Given the description of an element on the screen output the (x, y) to click on. 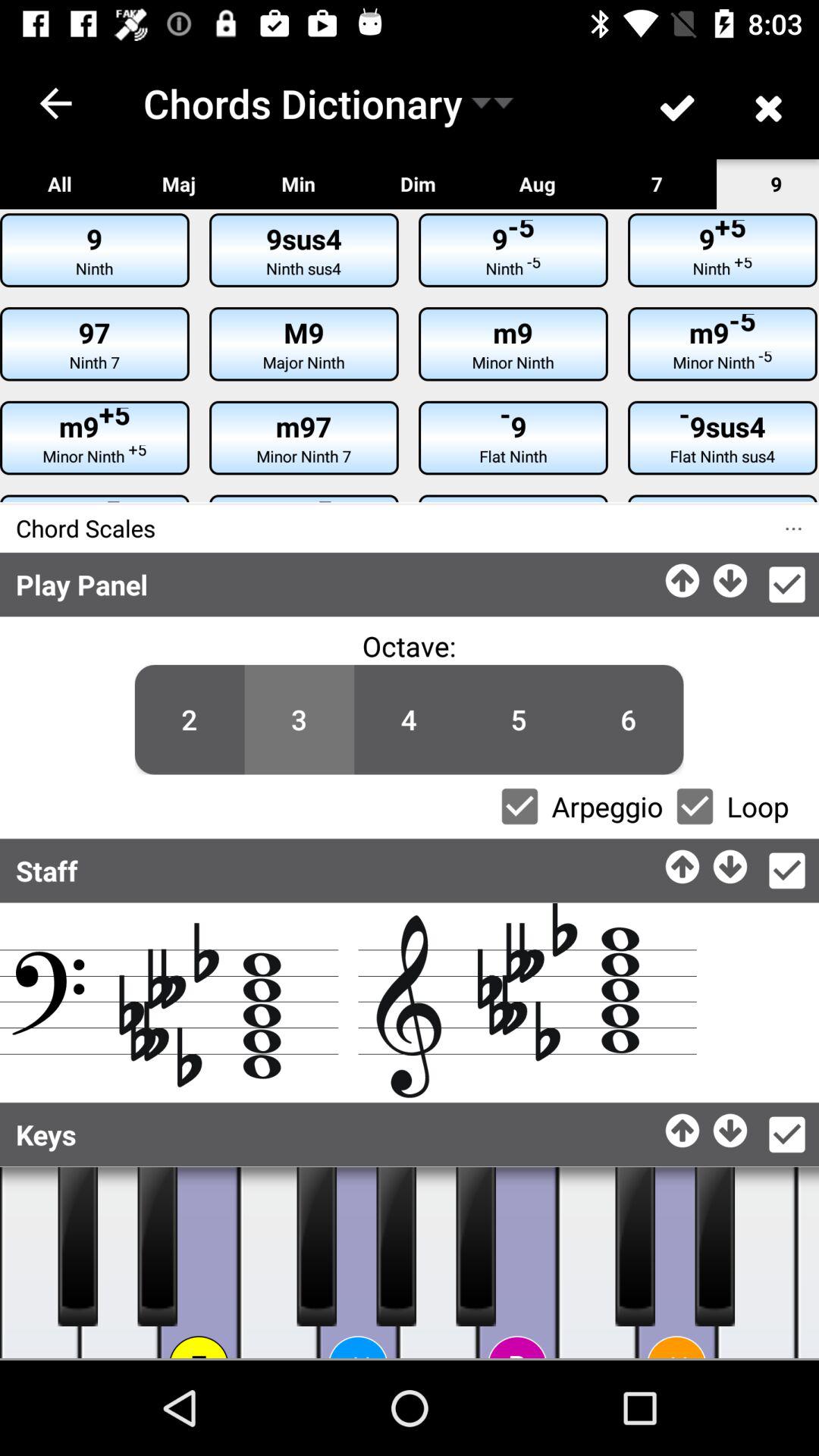
check and uncheck (519, 806)
